Given the description of an element on the screen output the (x, y) to click on. 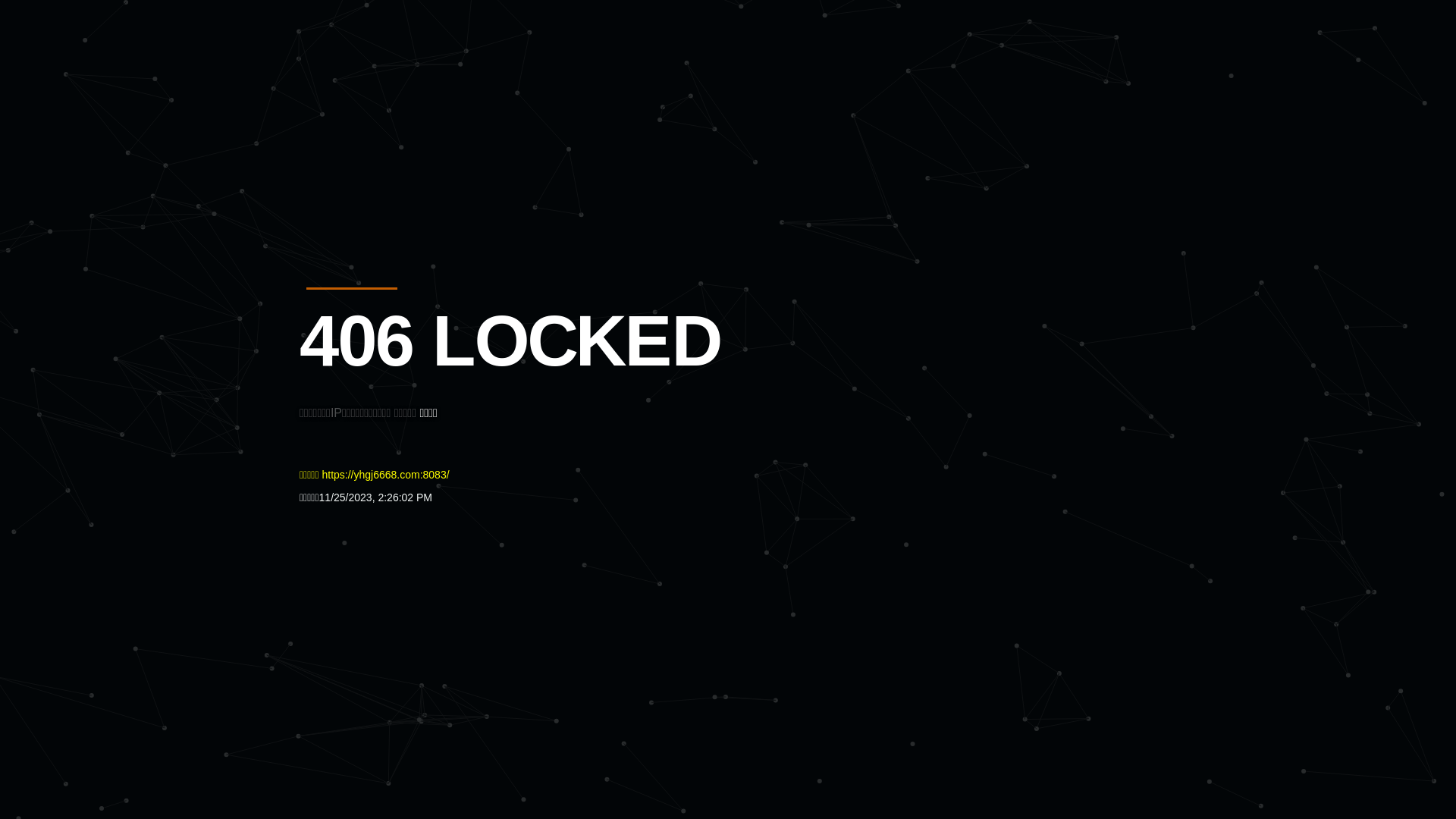
Quatro Element type: text (410, 86)
